Given the description of an element on the screen output the (x, y) to click on. 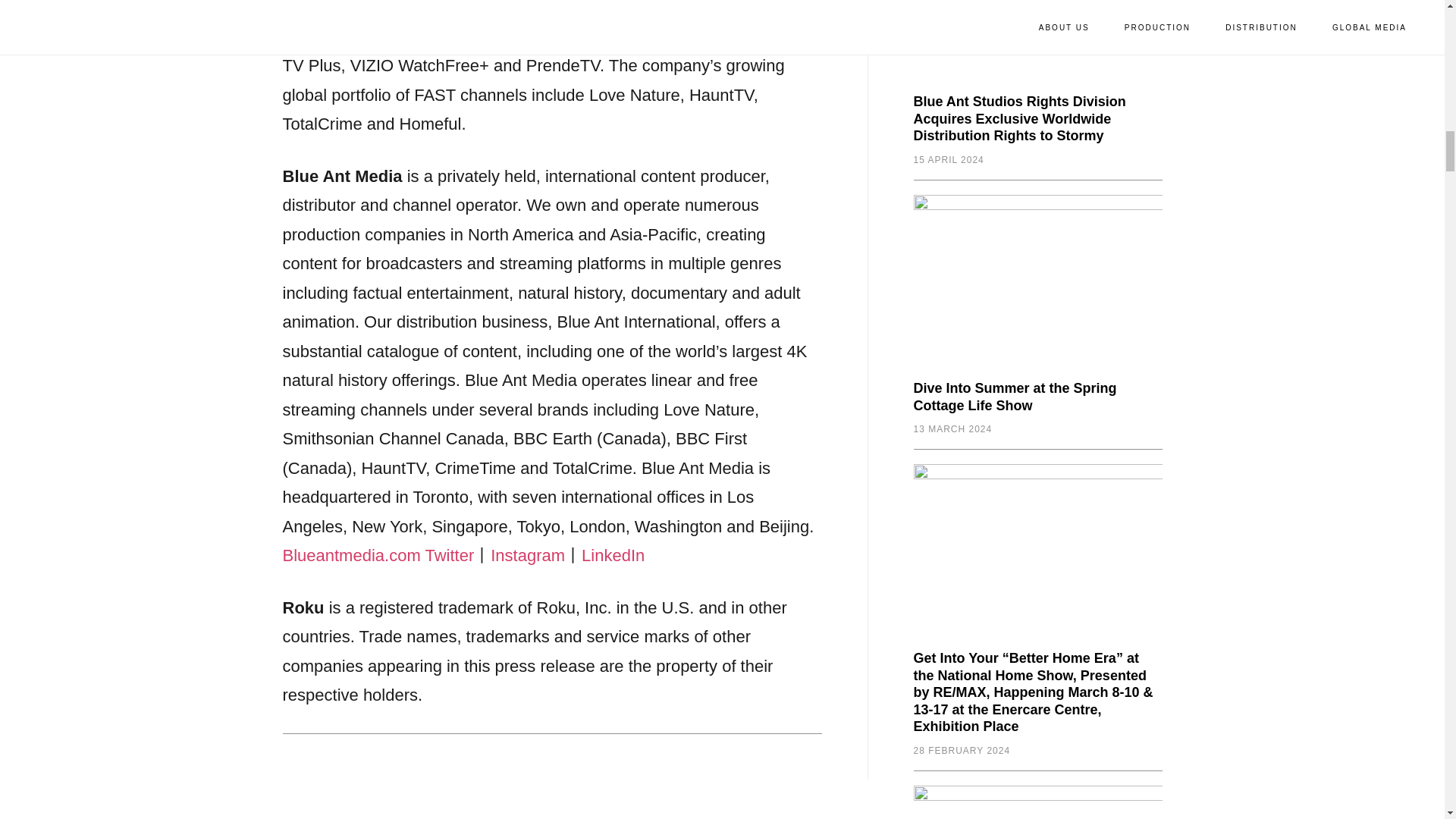
LinkedIn (612, 555)
Blueantmedia.com (351, 555)
Twitter (449, 555)
Instagram (527, 555)
